Given the description of an element on the screen output the (x, y) to click on. 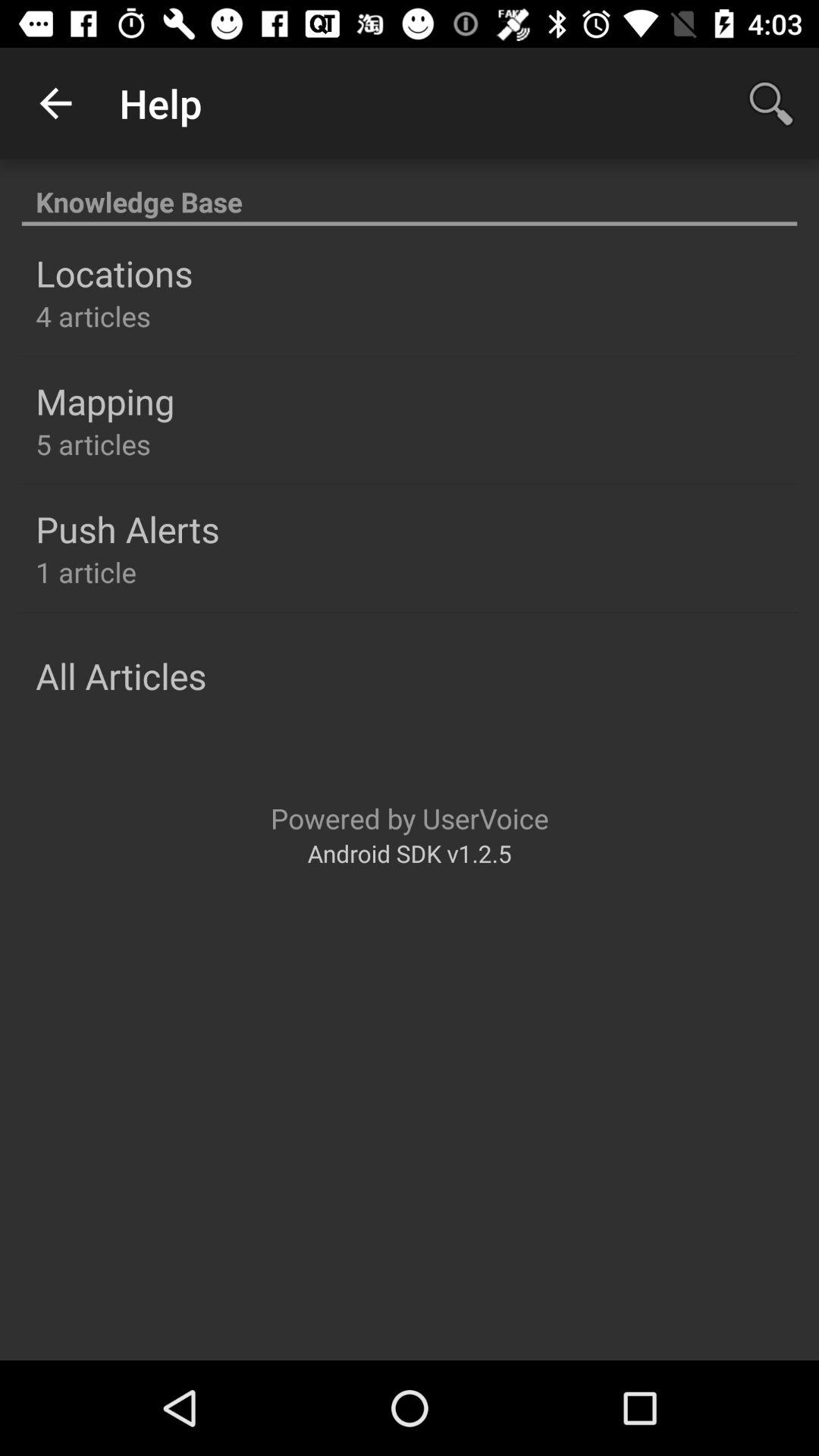
jump to the 5 articles (92, 443)
